Given the description of an element on the screen output the (x, y) to click on. 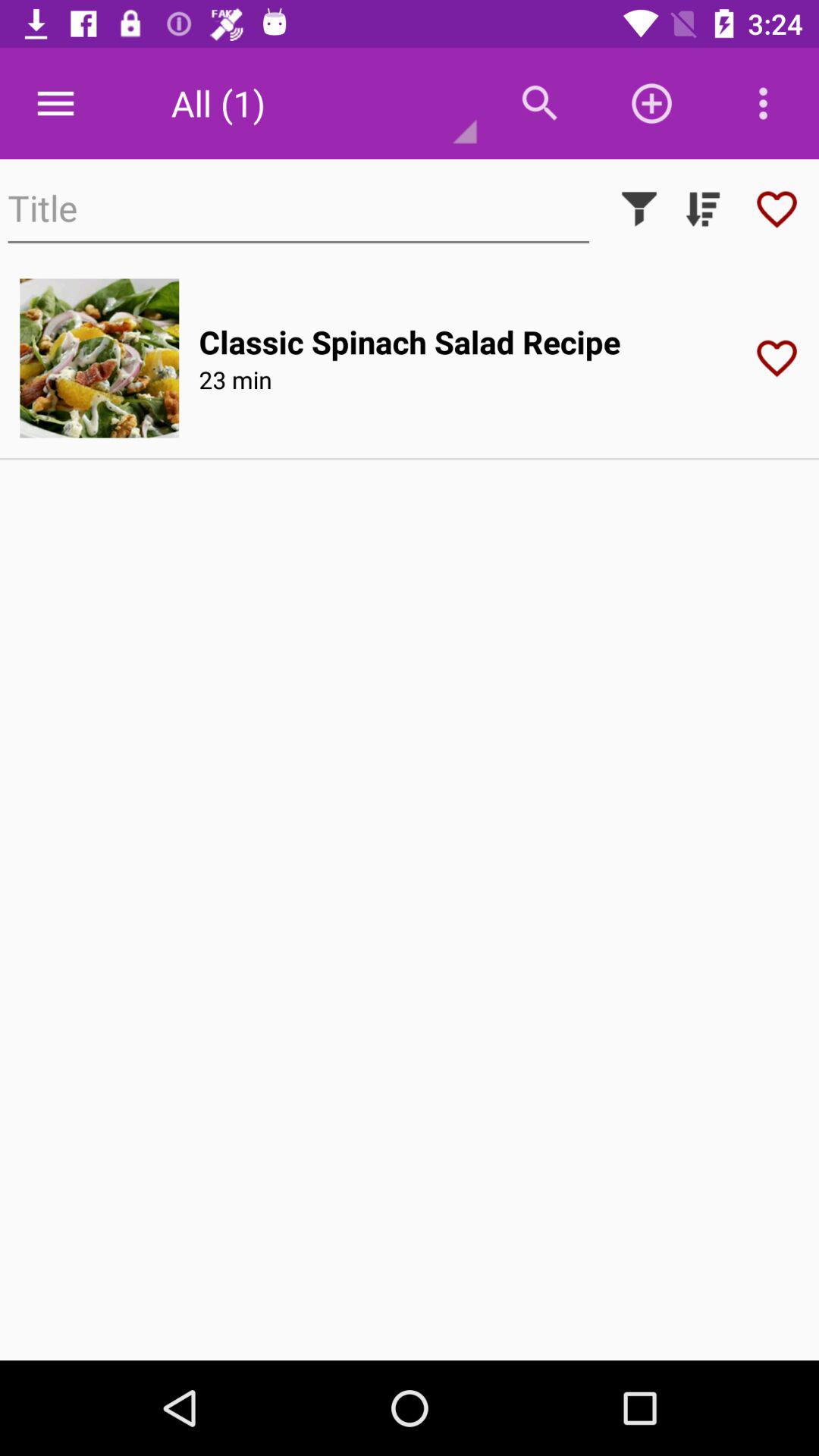
select the classic spinach salad (409, 341)
